Given the description of an element on the screen output the (x, y) to click on. 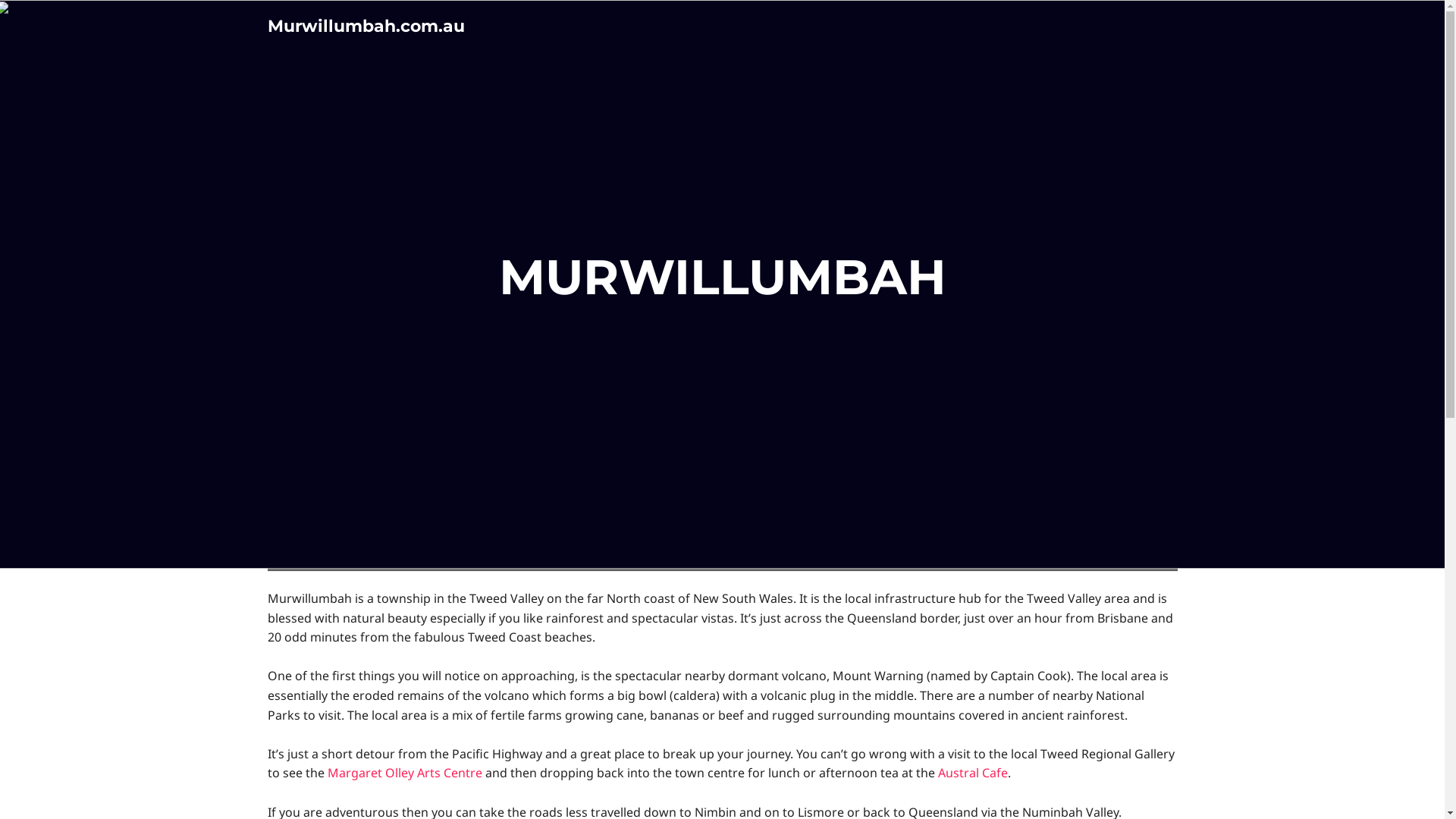
Murwillumbah.com.au Element type: text (365, 25)
Margaret Olley Arts Centre Element type: text (404, 772)
Austral Cafe Element type: text (972, 772)
